Given the description of an element on the screen output the (x, y) to click on. 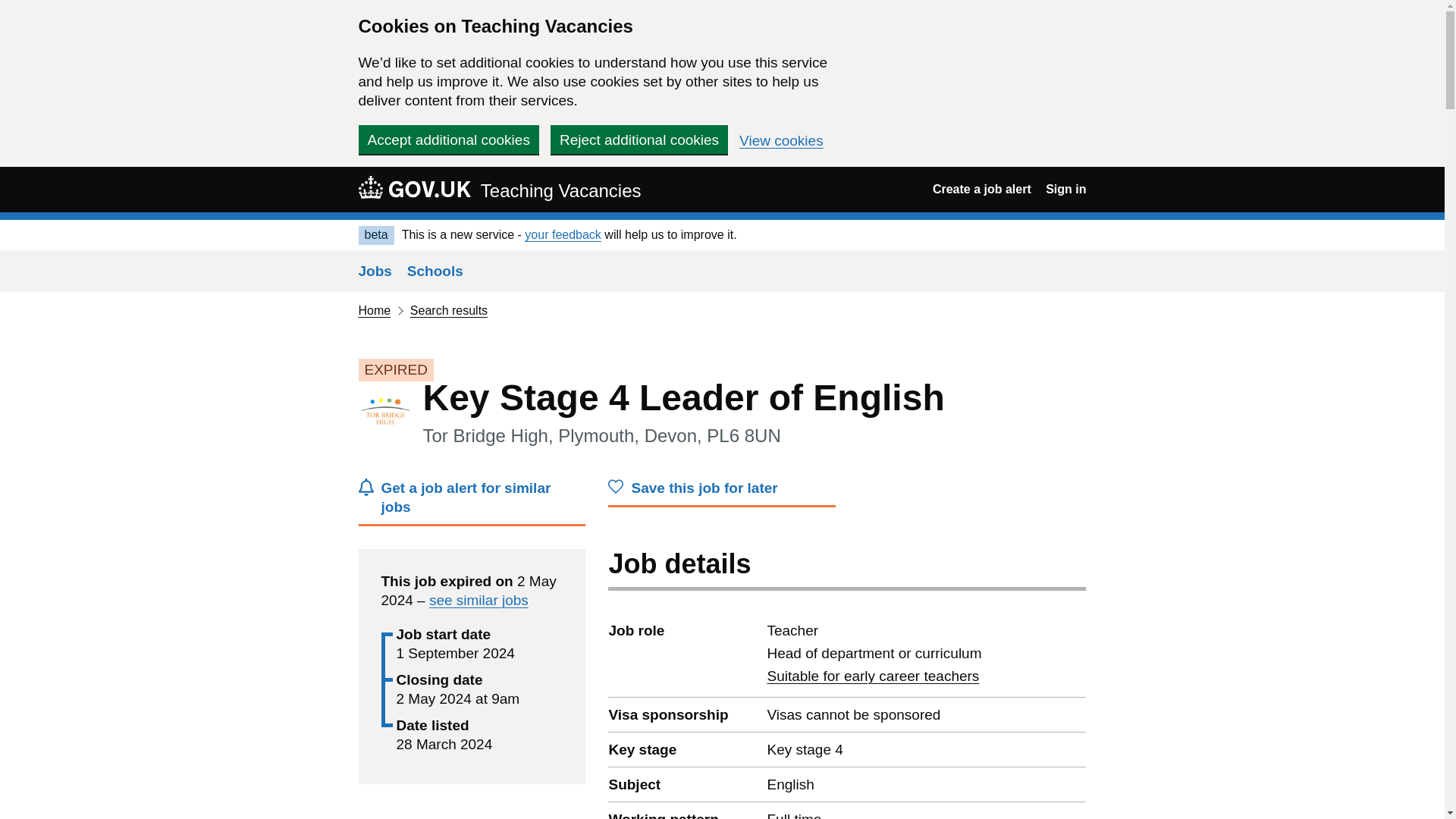
View cookies (781, 140)
GOV.UK Teaching Vacancies (499, 188)
GOV.UK (414, 187)
Schools (435, 270)
Get a job alert for similar jobs (471, 501)
Search results (448, 309)
Sign in (1065, 188)
Home (374, 309)
Save this job for later (721, 491)
your feedback (562, 234)
Accept additional cookies (448, 139)
Create a job alert (981, 188)
Reject additional cookies (639, 139)
see similar jobs (478, 600)
